Given the description of an element on the screen output the (x, y) to click on. 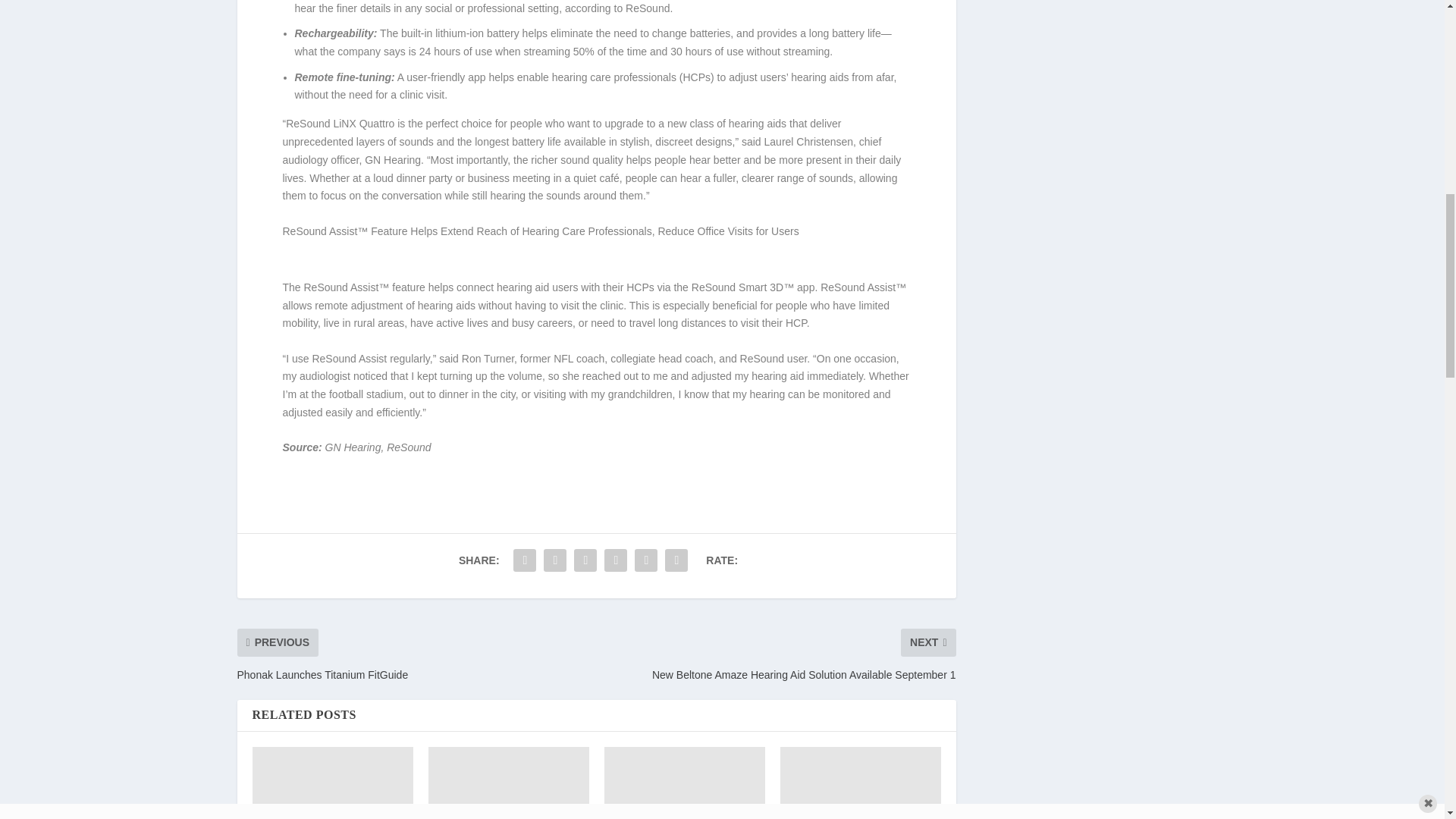
Dizziness Upon Standing May Mean Increased Dementia Risk (684, 782)
Harris Communications to Attend HLAA2017 Conference (331, 782)
Share "GN Hearing Launches ReSound LiNX Quattro" via Email (645, 560)
Share "GN Hearing Launches ReSound LiNX Quattro" via Print (676, 560)
Share "GN Hearing Launches ReSound LiNX Quattro" via Buffer (614, 560)
Share "GN Hearing Launches ReSound LiNX Quattro" via Twitter (555, 560)
